Given the description of an element on the screen output the (x, y) to click on. 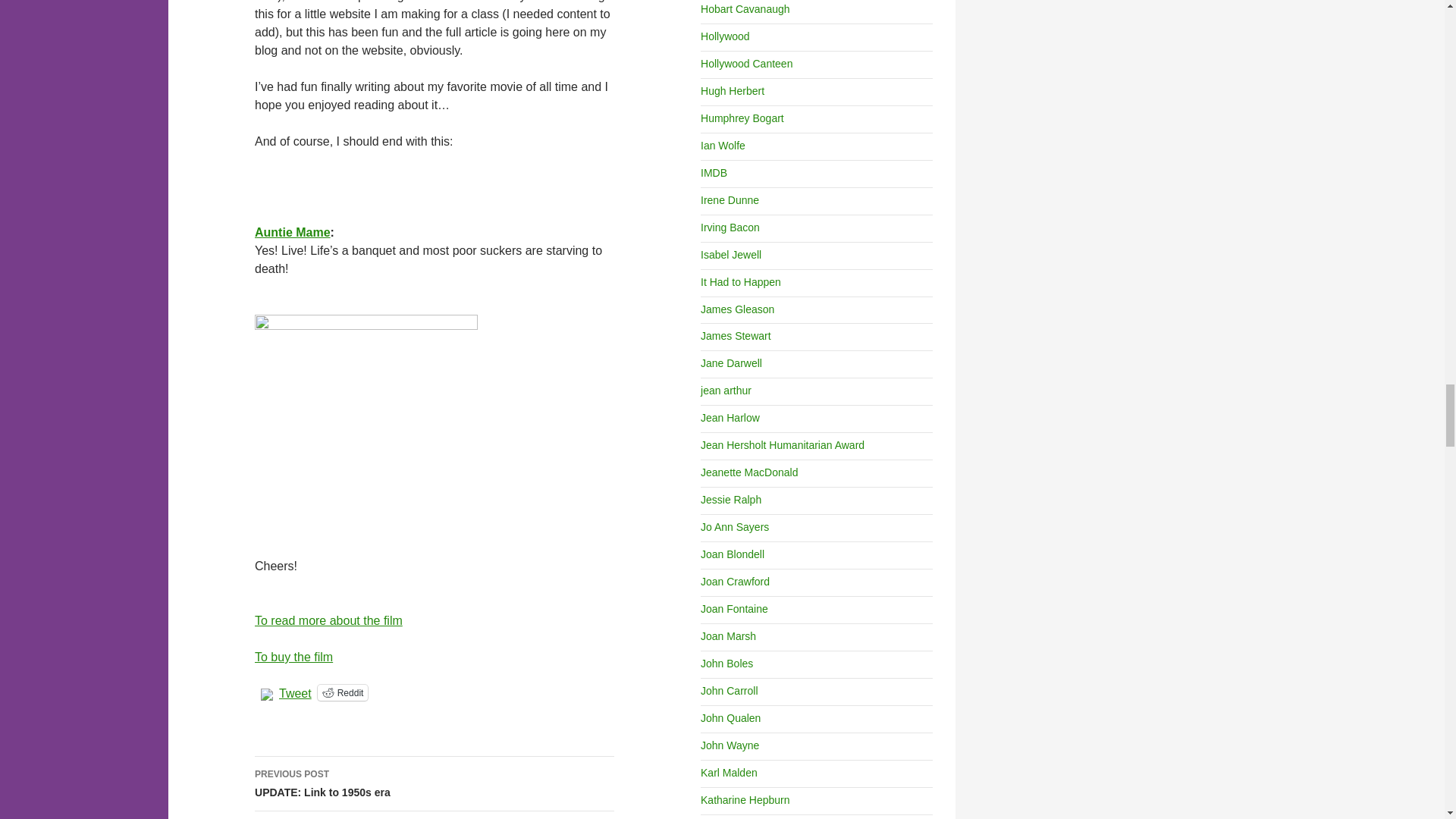
To read more about the film (328, 620)
Reddit (342, 692)
Tweet (295, 691)
To buy the film (293, 656)
Auntie Mame (434, 783)
Click to share on Reddit (292, 232)
